Given the description of an element on the screen output the (x, y) to click on. 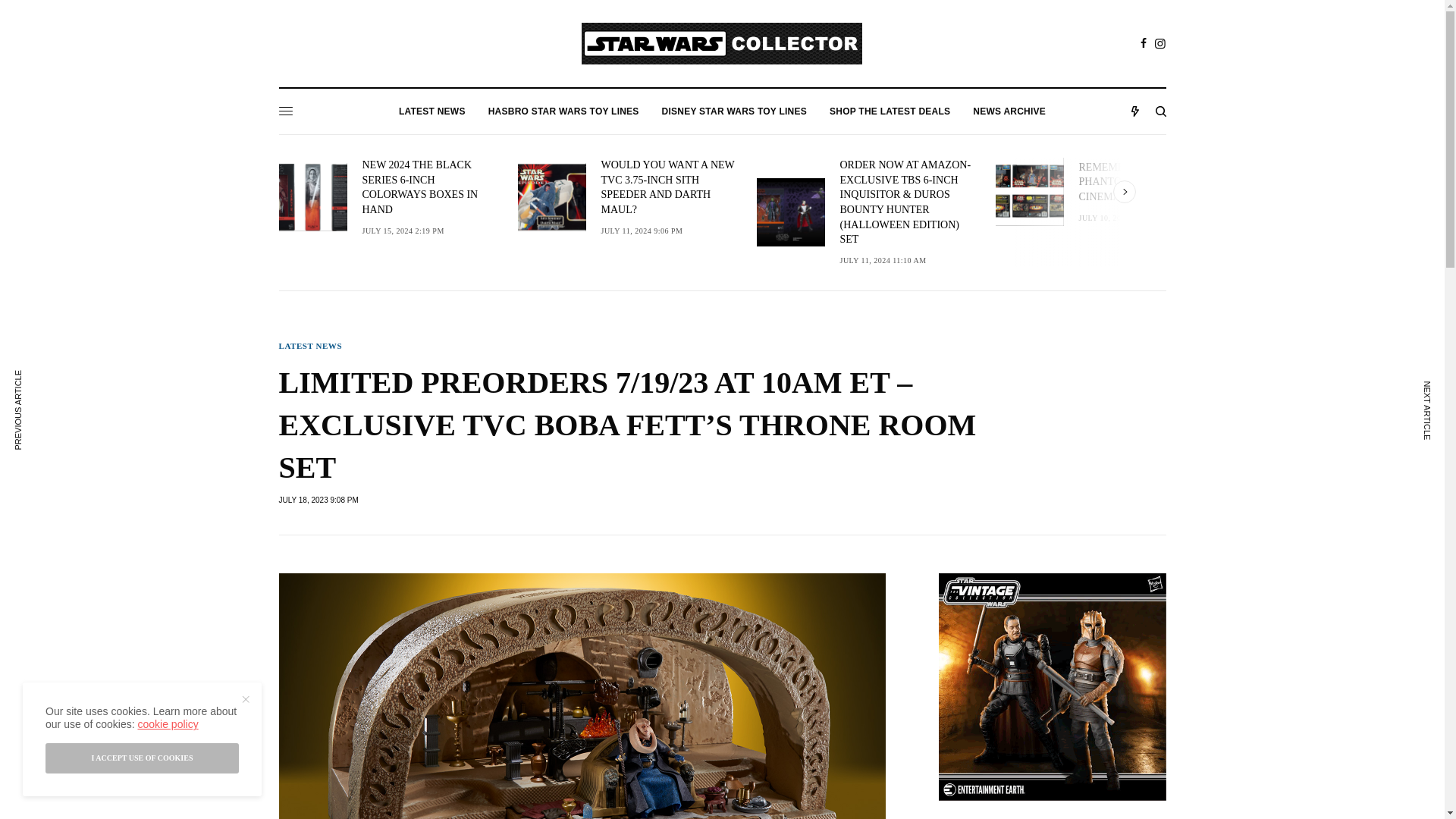
SHOP THE LATEST DEALS (889, 111)
HASBRO STAR WARS TOY LINES (563, 111)
NEWS ARCHIVE (1008, 111)
LATEST NEWS (431, 111)
DISNEY STAR WARS TOY LINES (734, 111)
Star Wars Collector (720, 43)
